Given the description of an element on the screen output the (x, y) to click on. 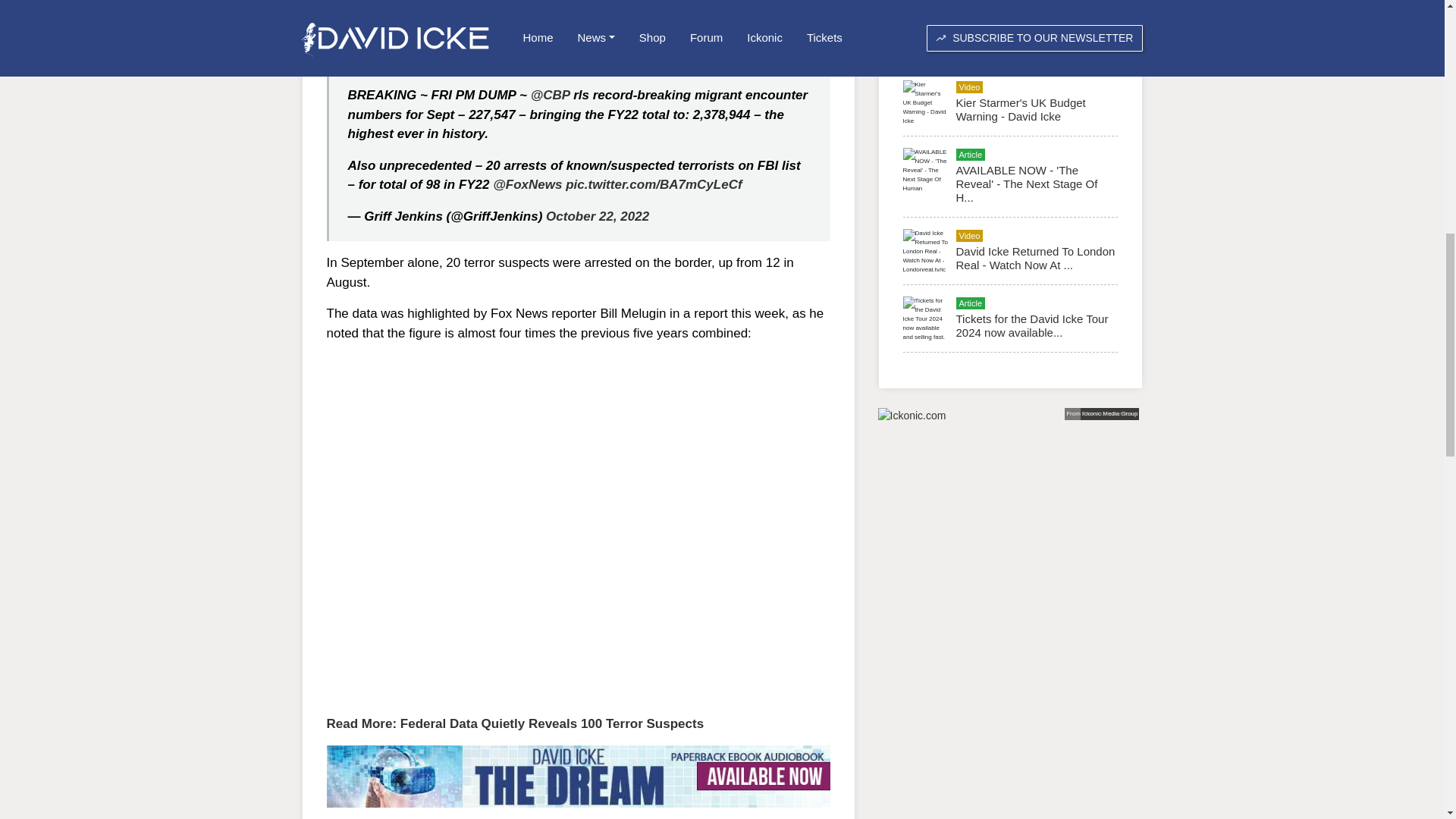
Read More: Federal Data Quietly Reveals 100 Terror Suspects (514, 723)
Kier Starmer's UK Budget Warning - David Icke (1019, 109)
October 22, 2022 (597, 216)
